Given the description of an element on the screen output the (x, y) to click on. 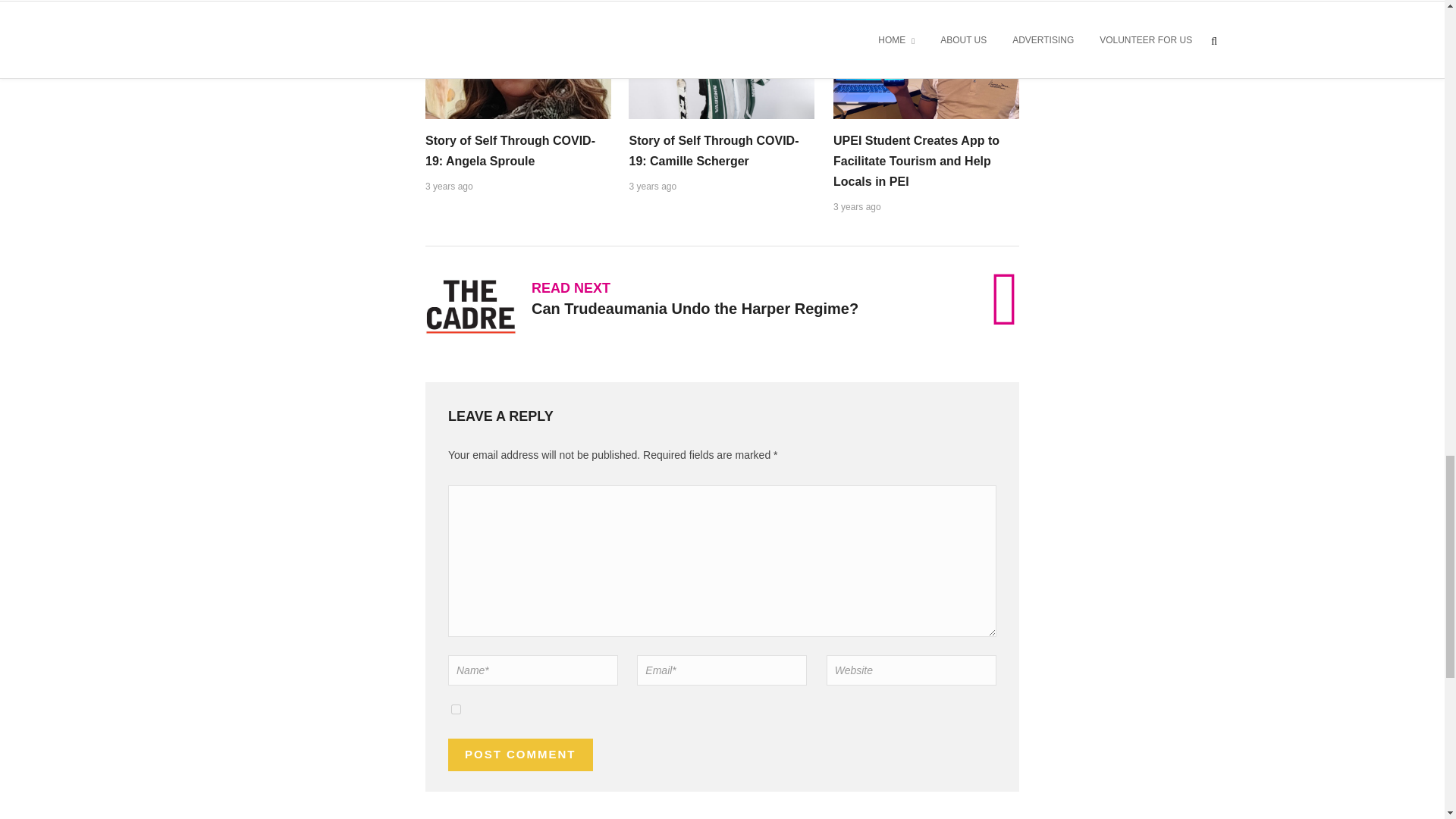
Story of Self Through COVID-19: Angela Sproule (510, 150)
Post Comment (520, 754)
Story of Self Through COVID-19: Angela Sproule (510, 150)
Story of Self Through COVID-19: Camille Scherger (712, 150)
yes (456, 709)
Post Comment (520, 754)
Story of Self Through COVID-19: Camille Scherger (712, 150)
